Given the description of an element on the screen output the (x, y) to click on. 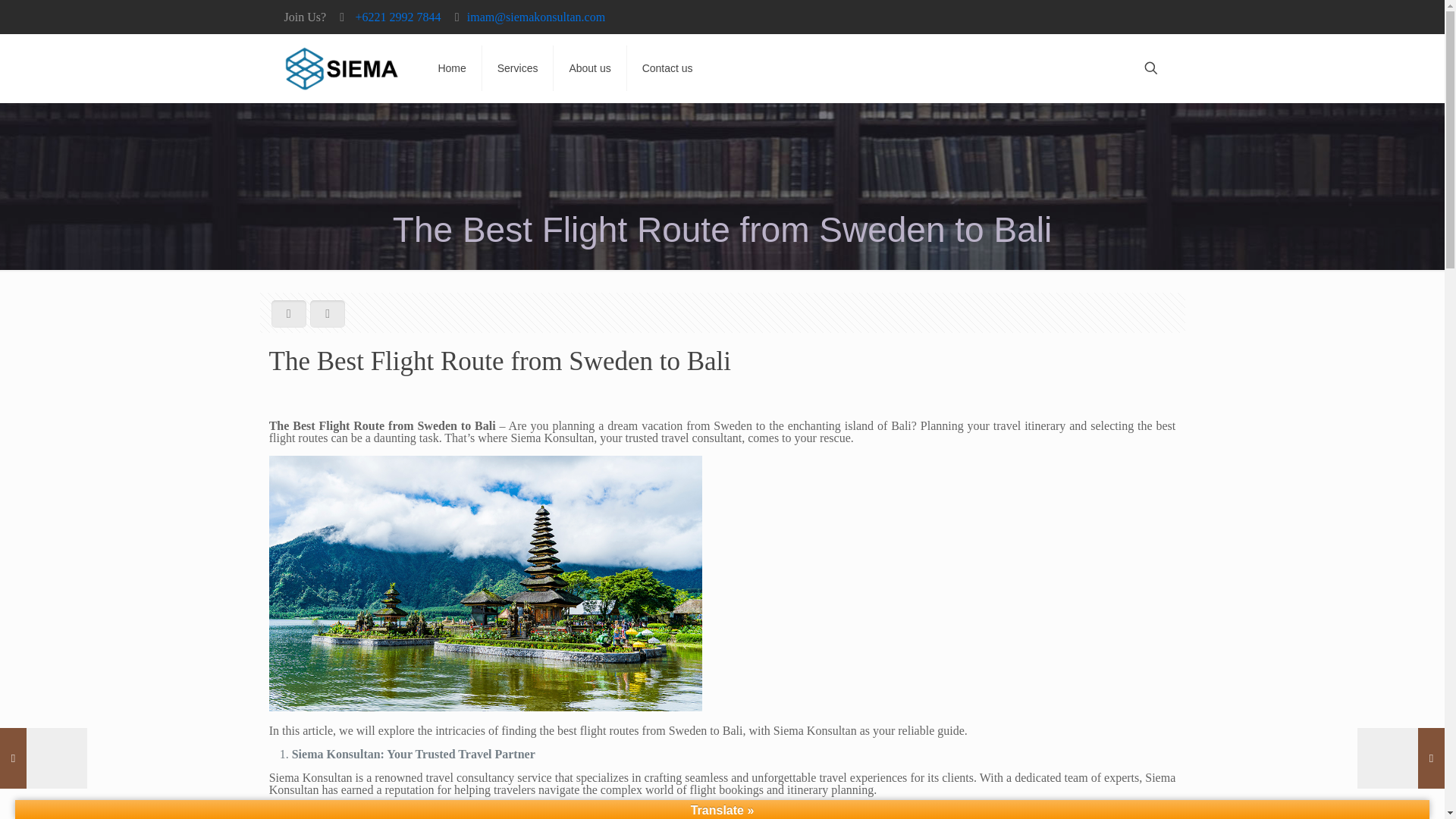
About us (589, 68)
Services (517, 68)
siemakonsultan.com (340, 68)
Contact us (667, 68)
